Given the description of an element on the screen output the (x, y) to click on. 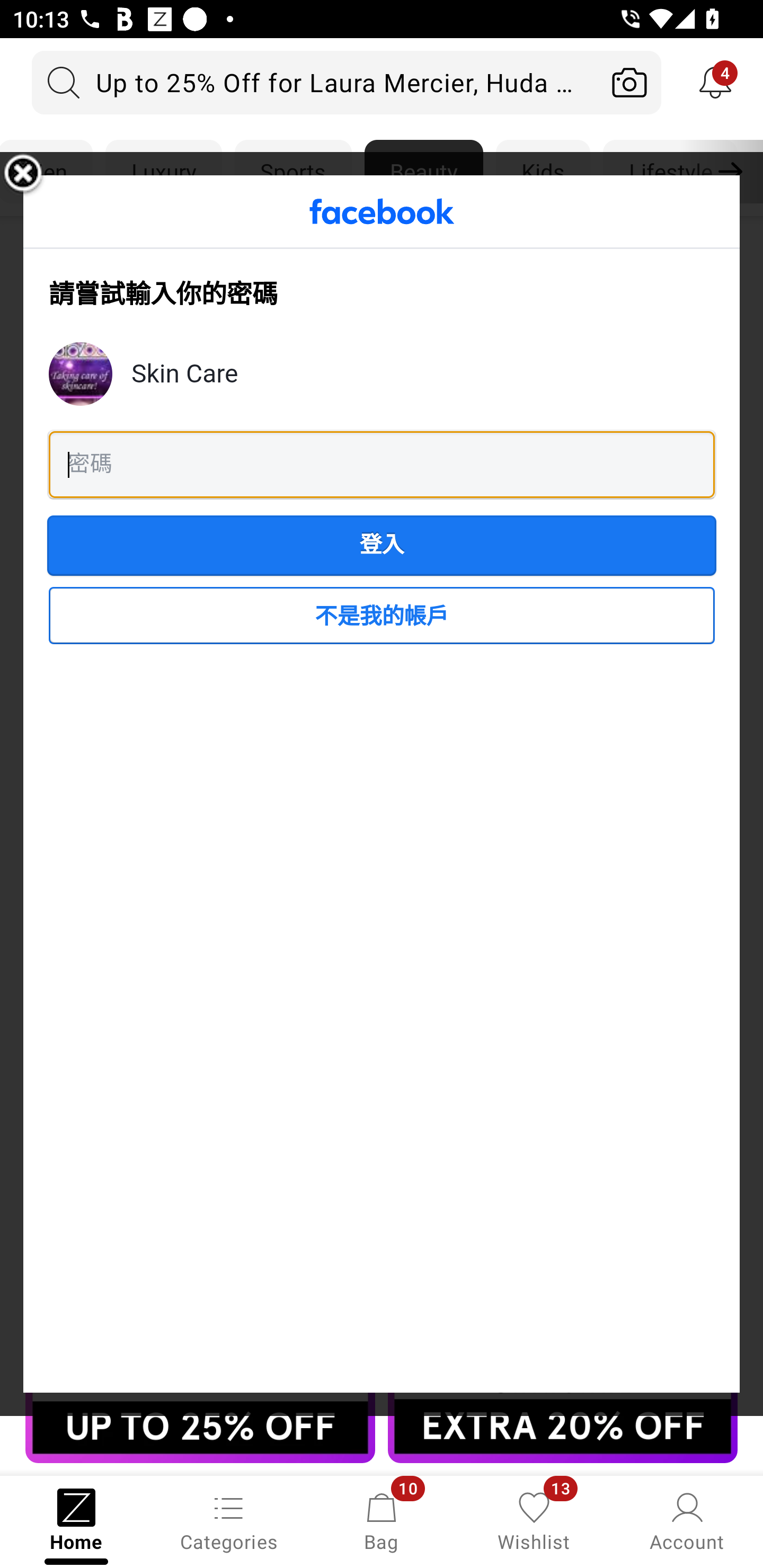
Facebook (381, 210)
登入 (381, 545)
不是我的帳戶 (381, 615)
